Given the description of an element on the screen output the (x, y) to click on. 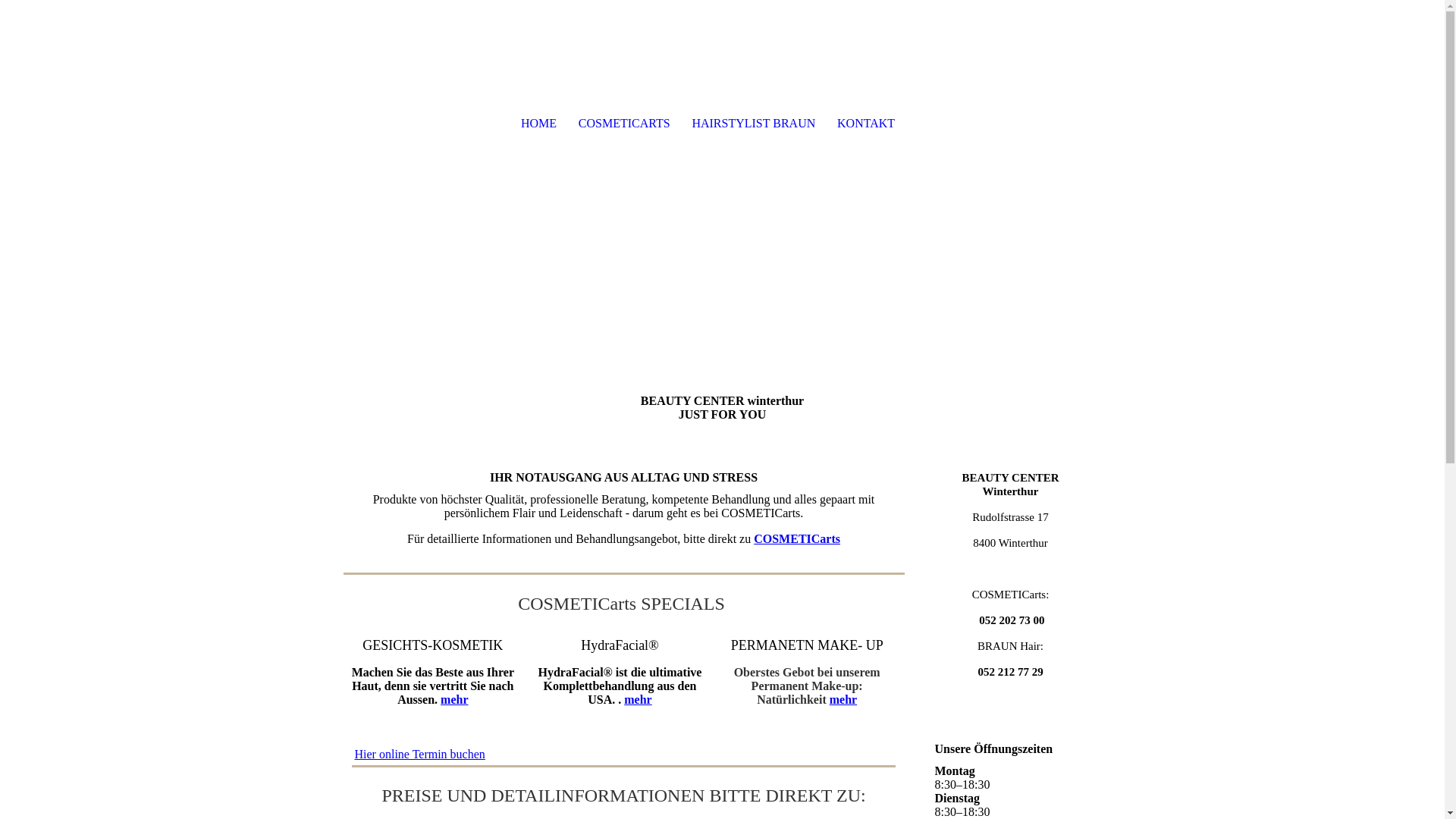
HOME Element type: text (538, 123)
Hier online Termin buchen Element type: text (418, 753)
COSMETICARTS Element type: text (623, 123)
HAIRSTYLIST BRAUN Element type: text (753, 123)
mehr Element type: text (842, 699)
COSMETICarts Element type: text (796, 538)
  Element type: text (422, 124)
KONTAKT Element type: text (866, 123)
mehr Element type: text (453, 699)
mehr Element type: text (637, 699)
